Given the description of an element on the screen output the (x, y) to click on. 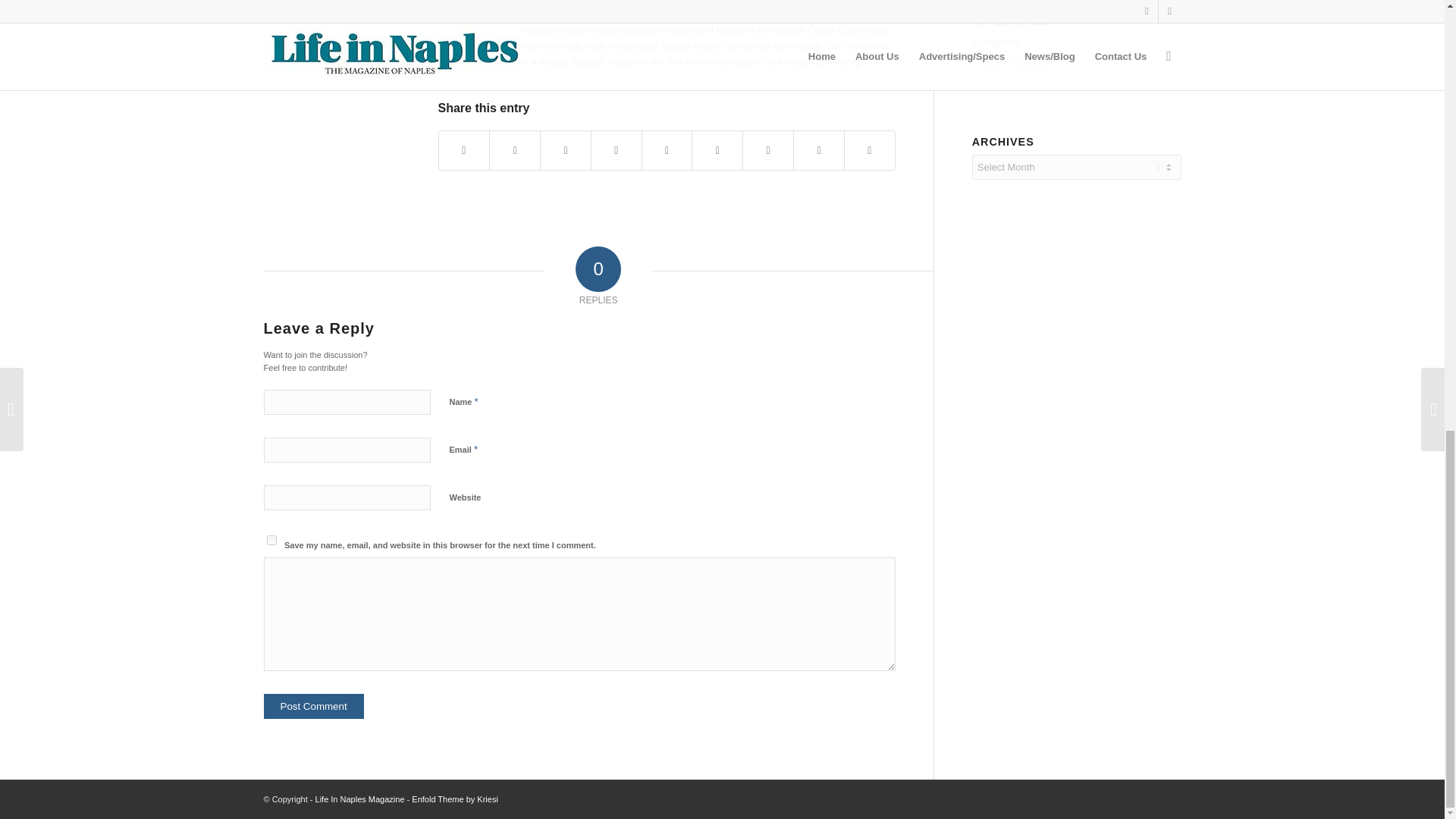
yes (271, 539)
Post Comment (313, 706)
Post Comment (313, 706)
